Given the description of an element on the screen output the (x, y) to click on. 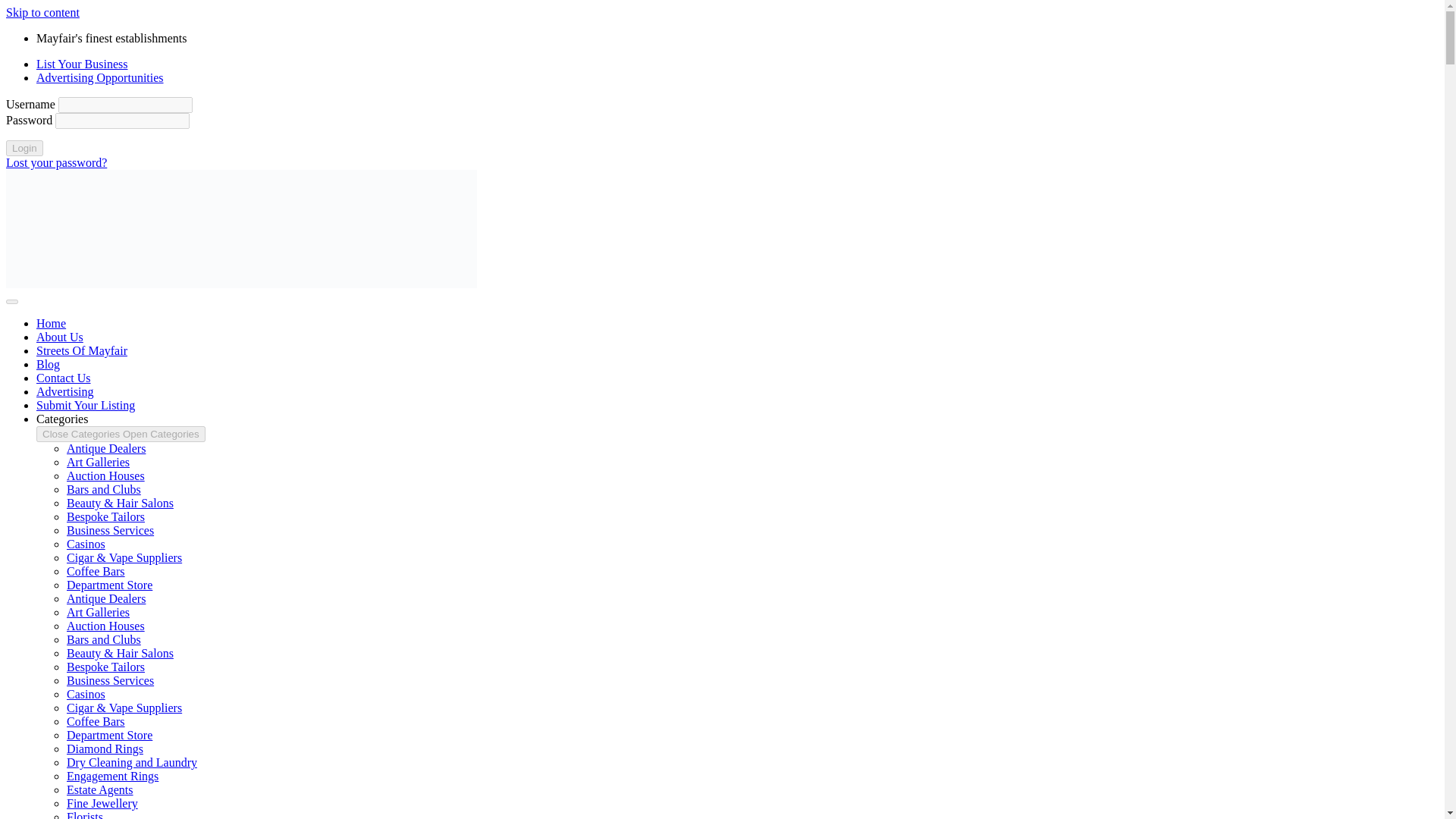
Streets Of Mayfair (82, 350)
Lost your password? (55, 162)
Dry Cleaning and Laundry (131, 762)
Submit Your Listing (85, 404)
Contact Us (63, 377)
Antique Dealers (105, 448)
Antique Dealers (105, 598)
Advertising Opportunities (99, 77)
Casinos (85, 694)
Auction Houses (105, 475)
